Given the description of an element on the screen output the (x, y) to click on. 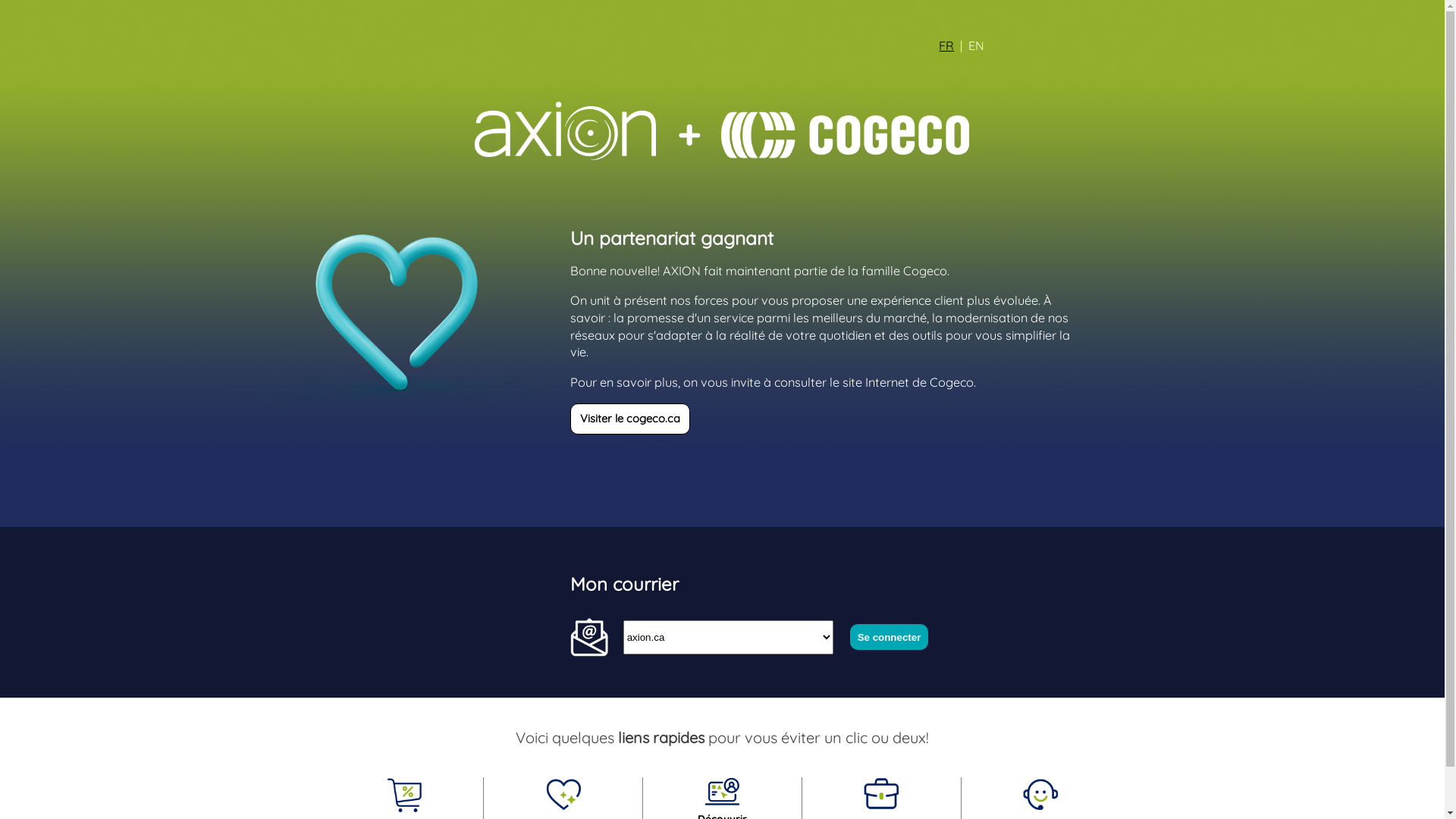
EN Element type: text (976, 45)
FR Element type: text (945, 45)
Se connecter Element type: text (888, 636)
Visiter le cogeco.ca Element type: text (630, 418)
